Given the description of an element on the screen output the (x, y) to click on. 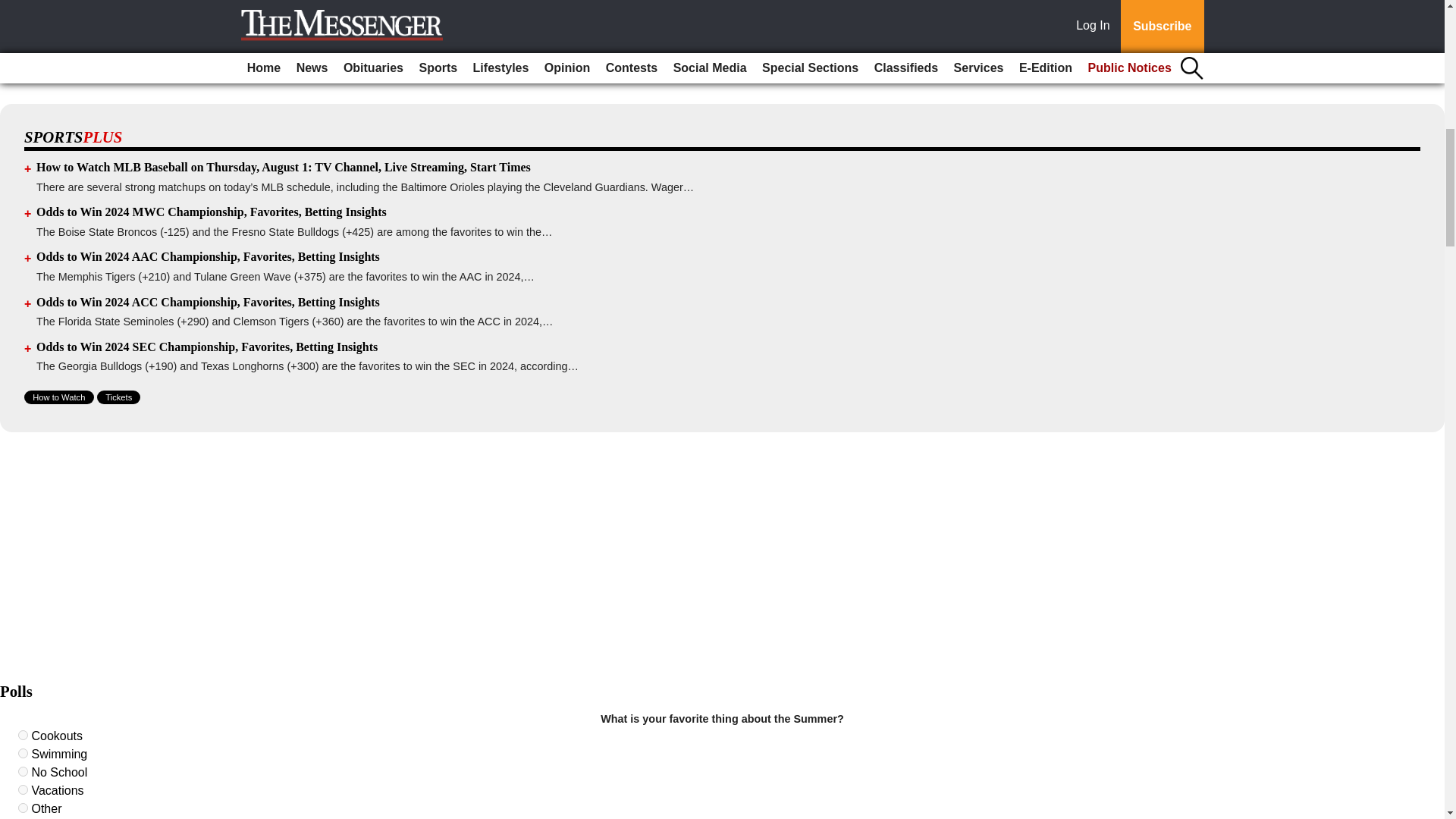
7278 (22, 808)
7276 (22, 771)
7275 (22, 753)
7274 (22, 735)
7277 (22, 789)
